Given the description of an element on the screen output the (x, y) to click on. 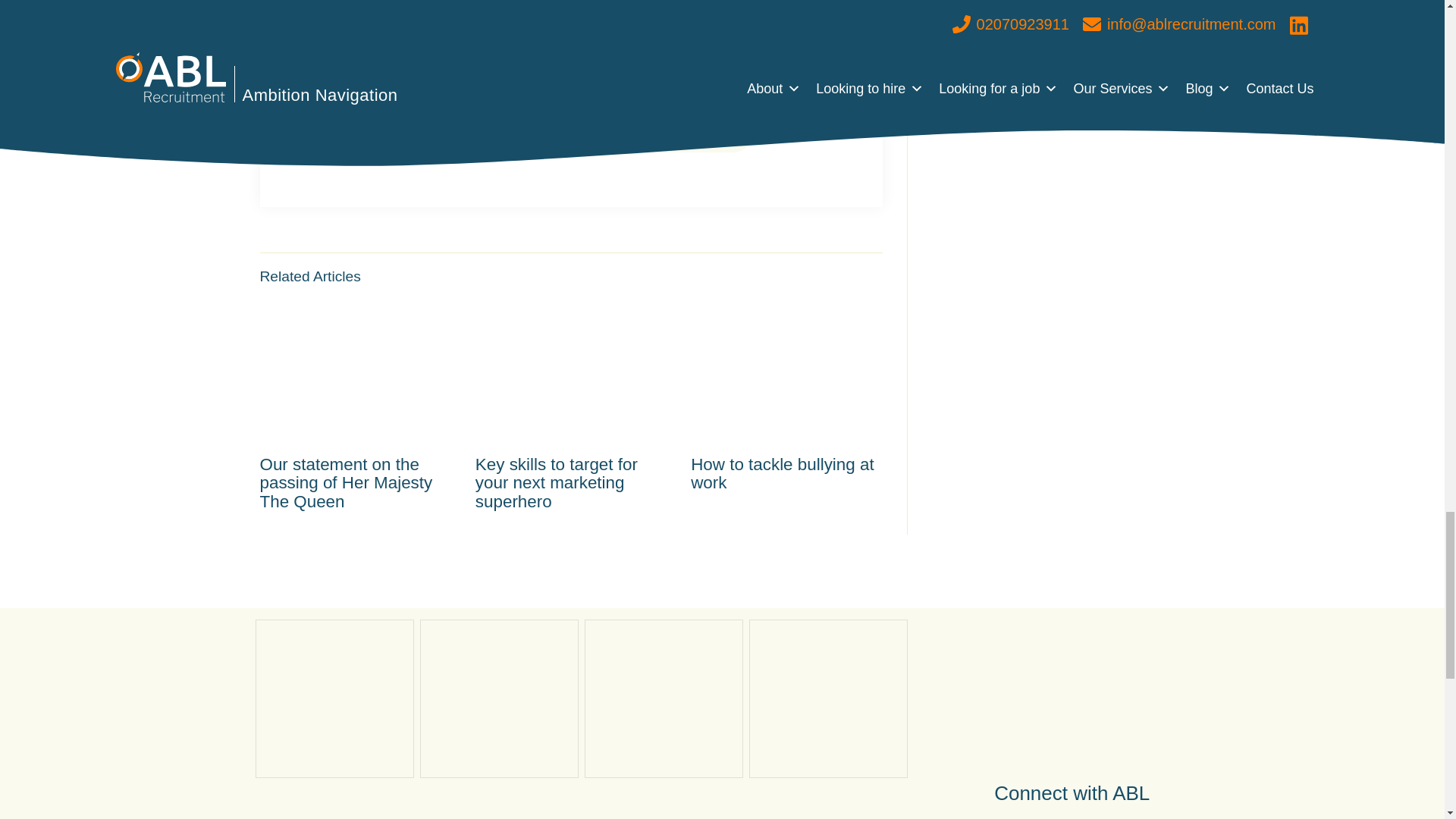
Our statement on the passing of Her Majesty The Queen (354, 405)
You need to accept this checkbox. (508, 140)
Key skills to target for your next marketing superhero (571, 405)
How to tackle bullying at work (786, 396)
Keep me up to date! (664, 132)
